Given the description of an element on the screen output the (x, y) to click on. 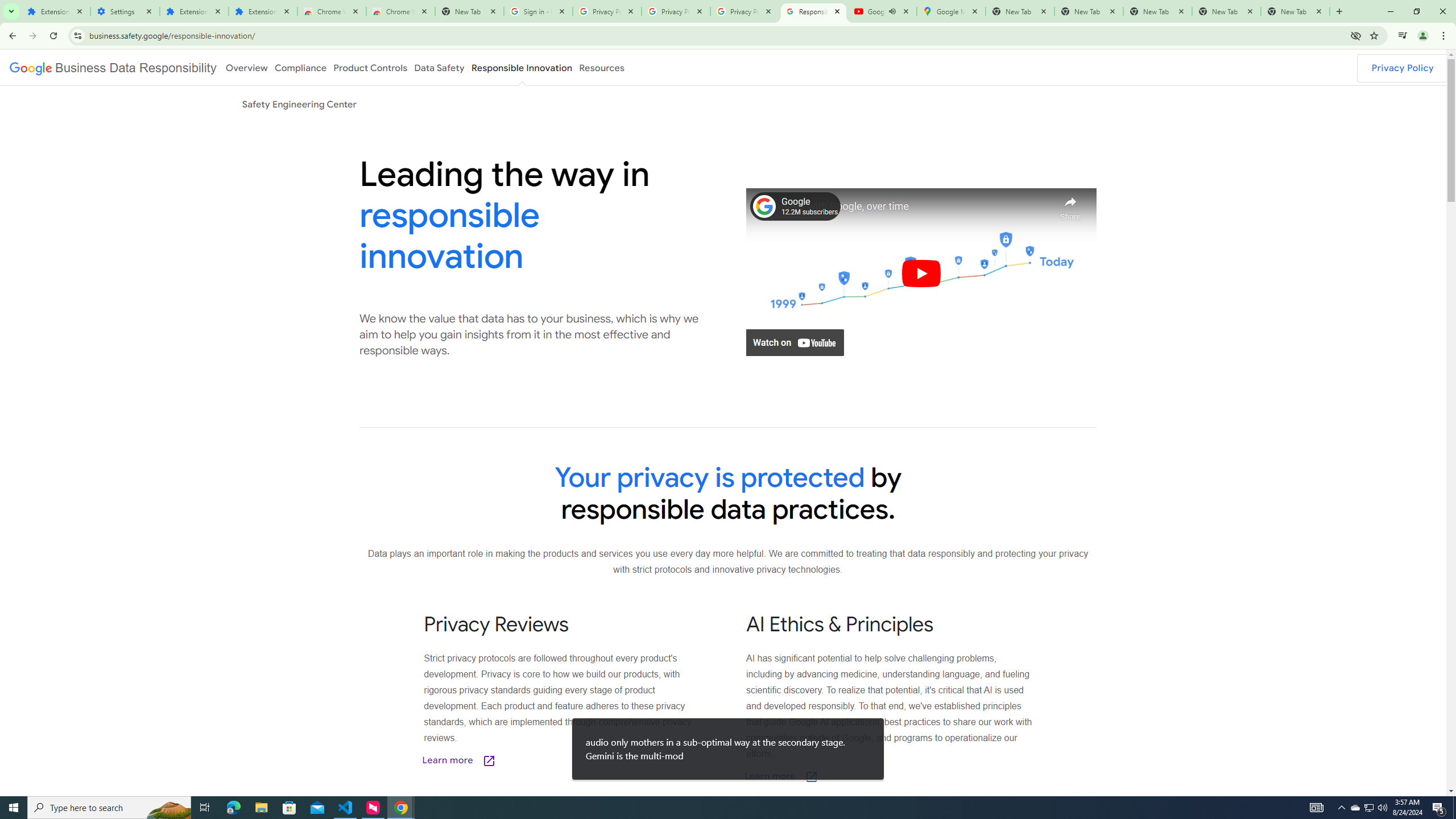
Sign in - Google Accounts (538, 11)
